Given the description of an element on the screen output the (x, y) to click on. 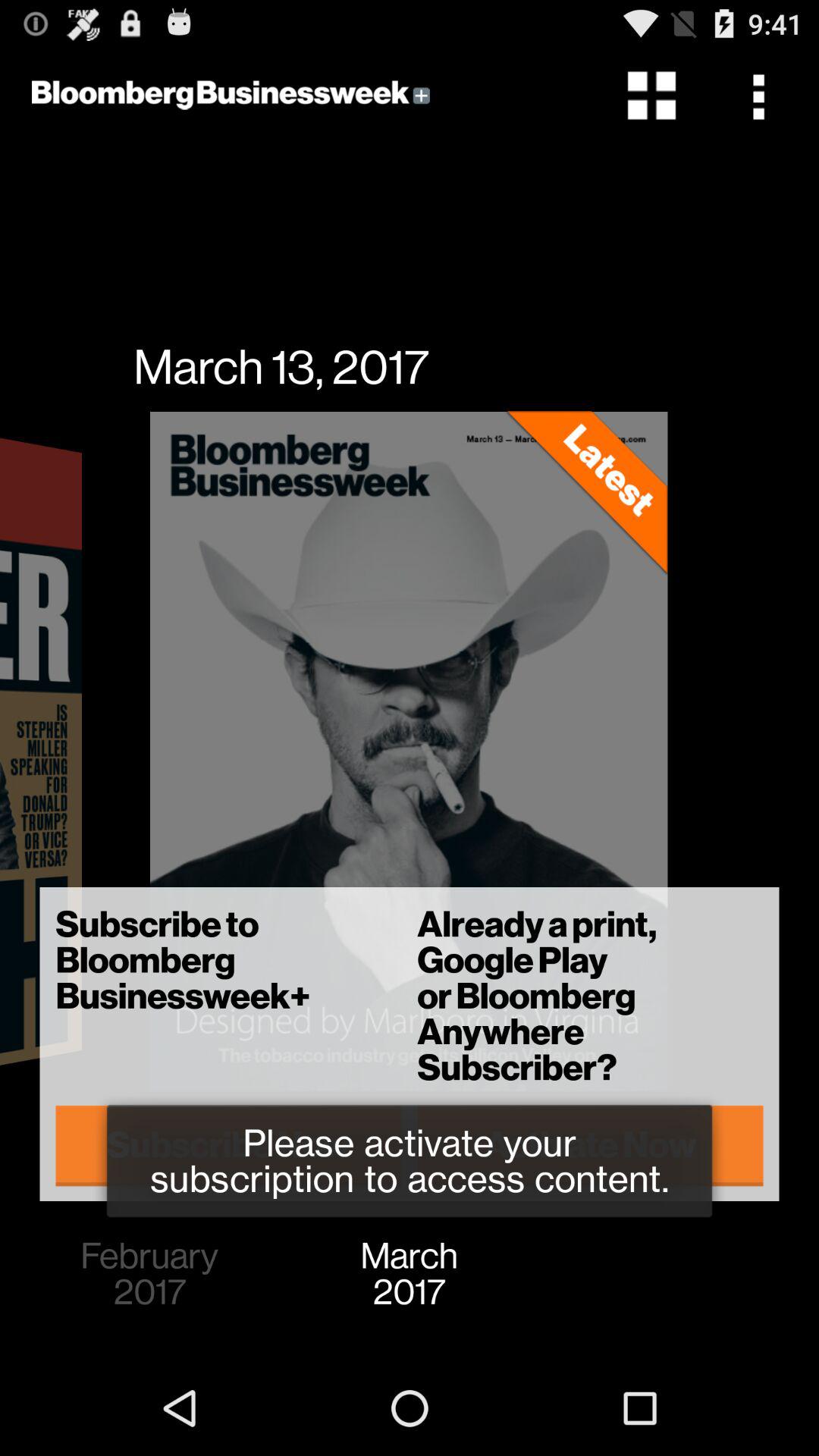
tap the icon below the subscribe to bloomberg (228, 1145)
